Given the description of an element on the screen output the (x, y) to click on. 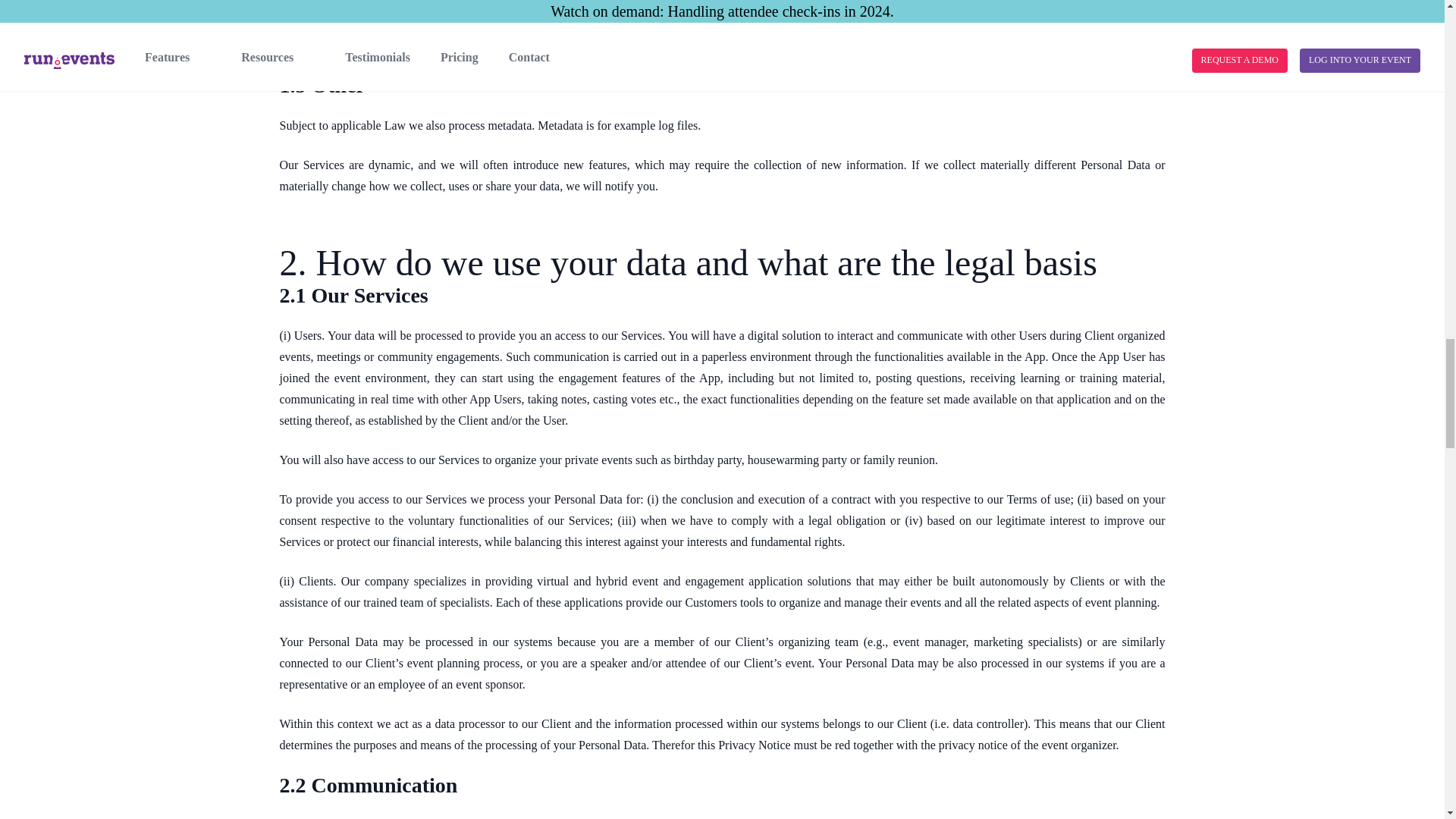
Cookie Policy (683, 44)
